Given the description of an element on the screen output the (x, y) to click on. 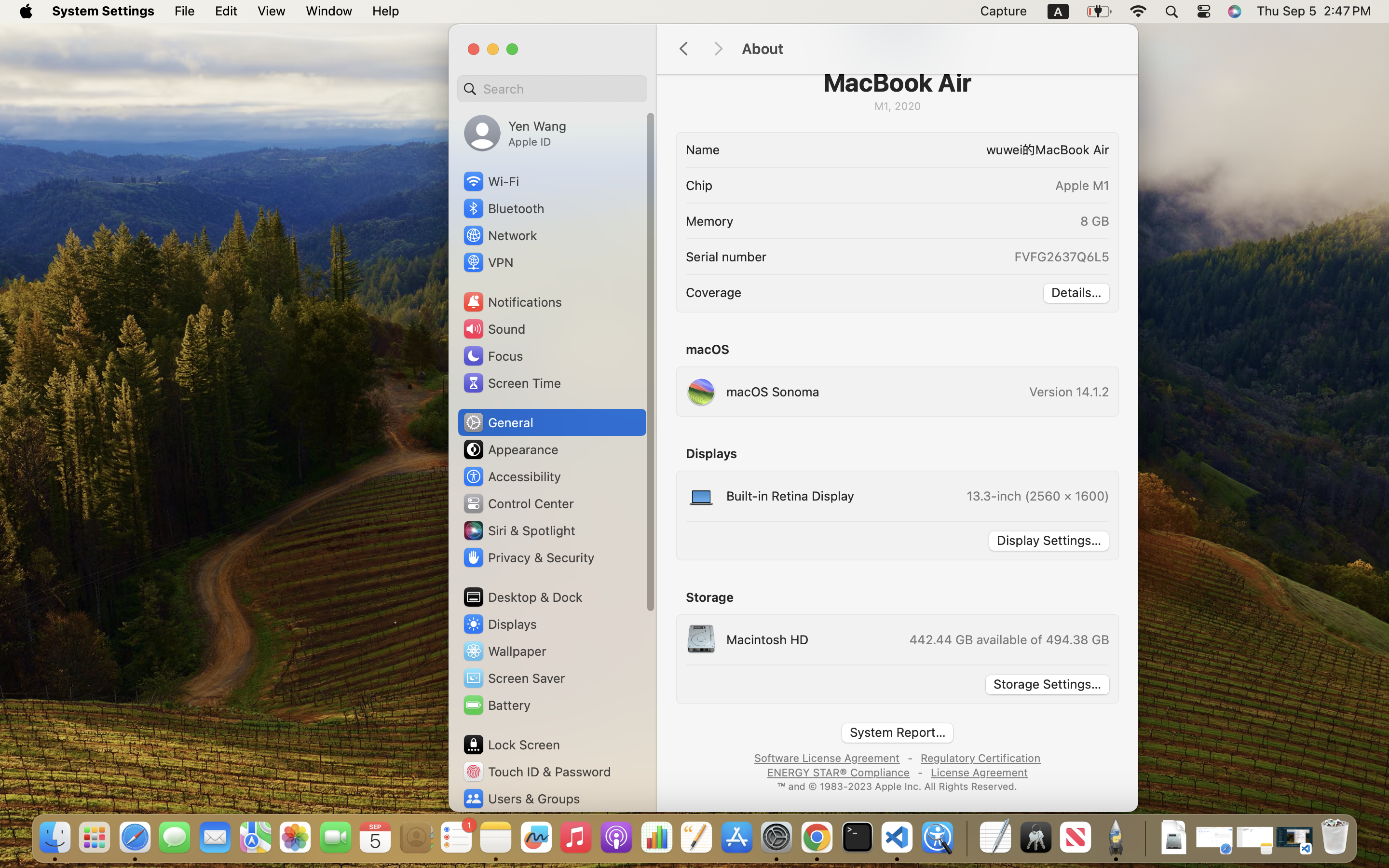
About Element type: AXStaticText (929, 49)
Privacy & Security Element type: AXStaticText (528, 557)
Battery Element type: AXStaticText (496, 704)
Touch ID & Password Element type: AXStaticText (536, 771)
wuwei的MacBook Air Element type: AXTextField (917, 149)
